Given the description of an element on the screen output the (x, y) to click on. 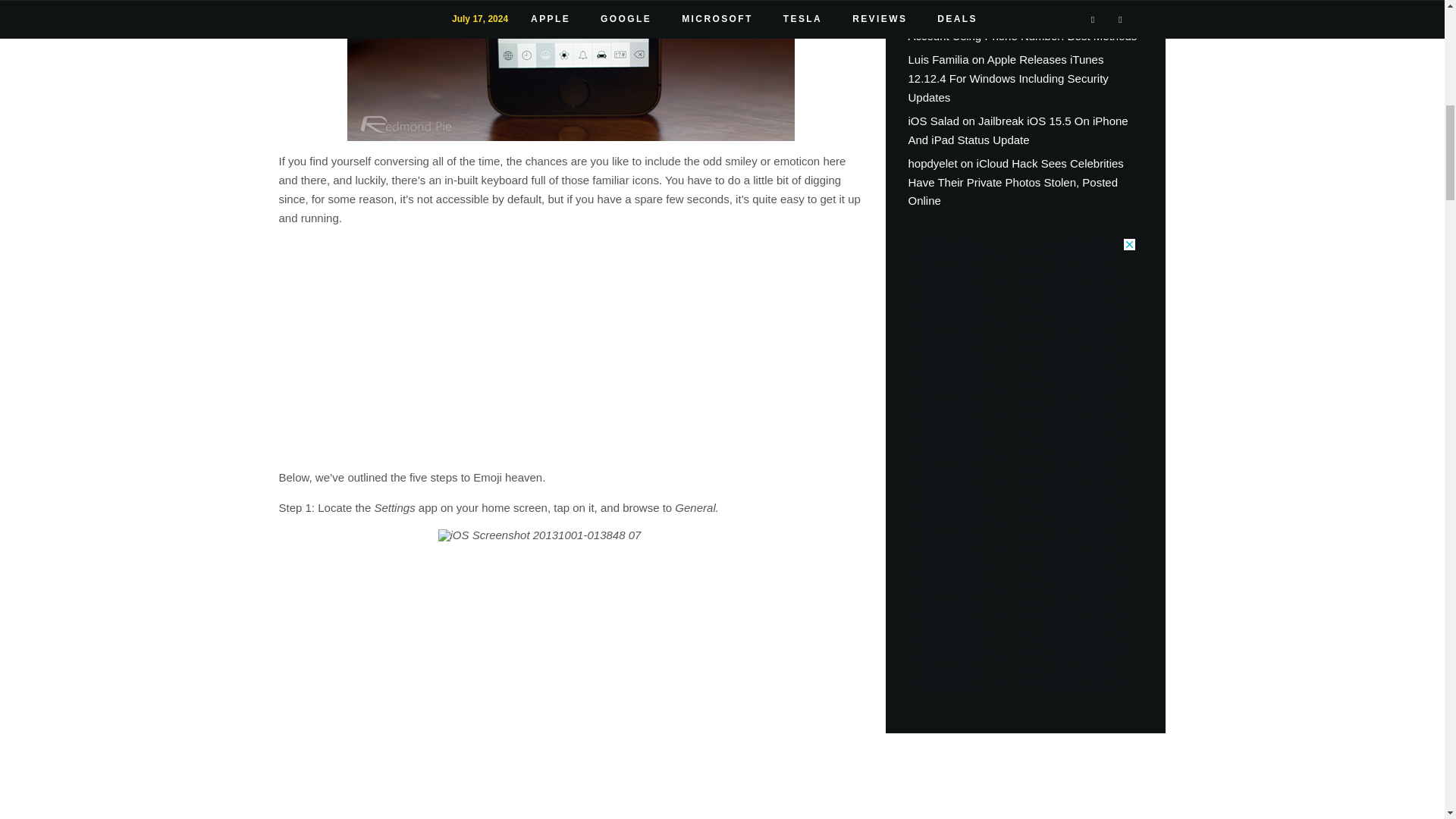
3rd party ad content (569, 345)
iOS Screenshot 20131001-013848 07 (570, 674)
Emoji keyboard iOS 7 (570, 70)
